Given the description of an element on the screen output the (x, y) to click on. 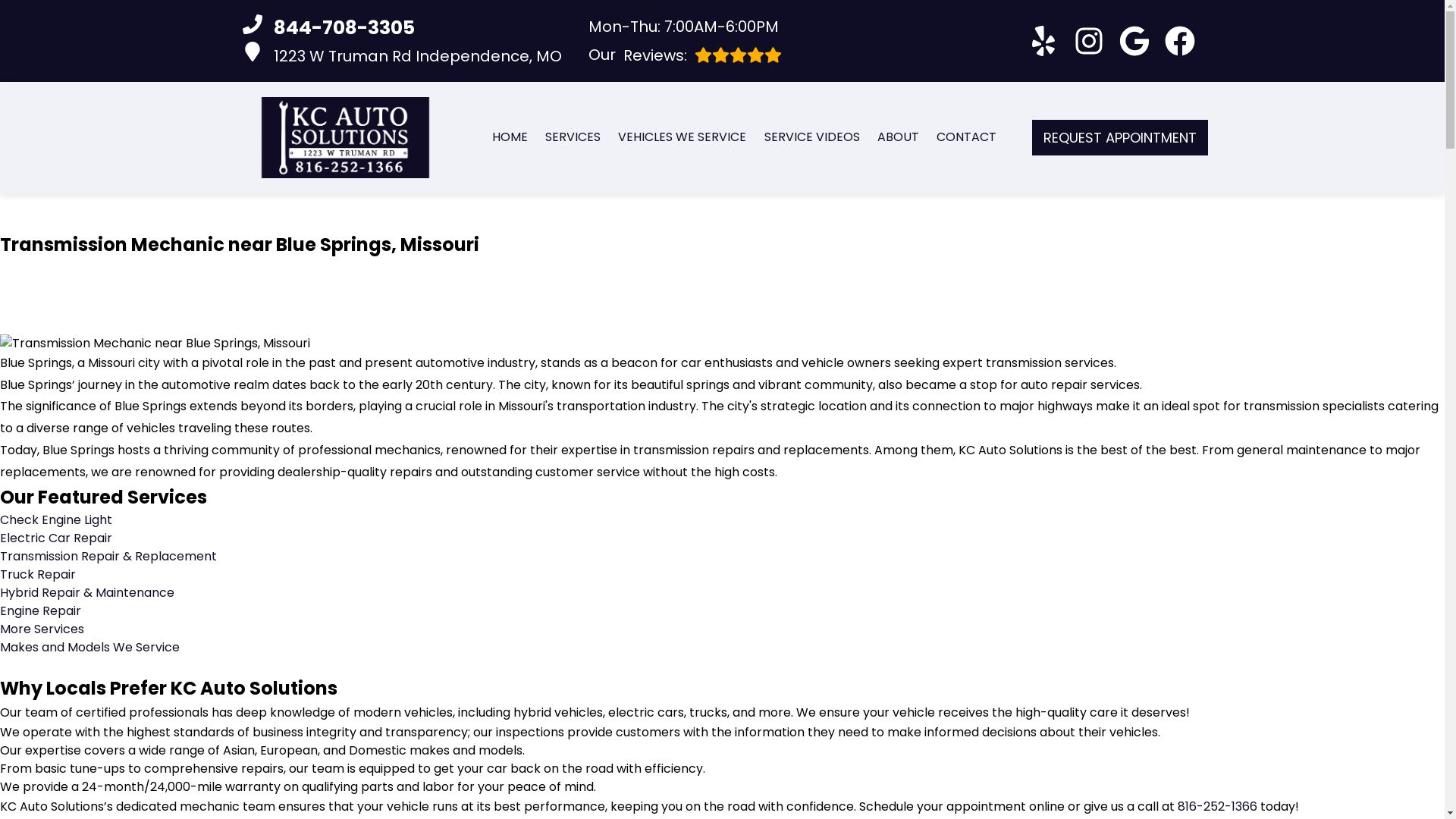
HOME (509, 136)
Services (571, 136)
Yelp URL (1042, 40)
KC Auto Solutions (343, 137)
Home (509, 136)
SERVICES (402, 54)
VEHICLES WE SERVICE (684, 54)
Call KC Auto Solutions (571, 136)
Facebook URL (681, 136)
Instagram URL (402, 27)
Our Reviews (1179, 40)
844-708-3305 (1088, 40)
Google My Business URL (684, 54)
